Given the description of an element on the screen output the (x, y) to click on. 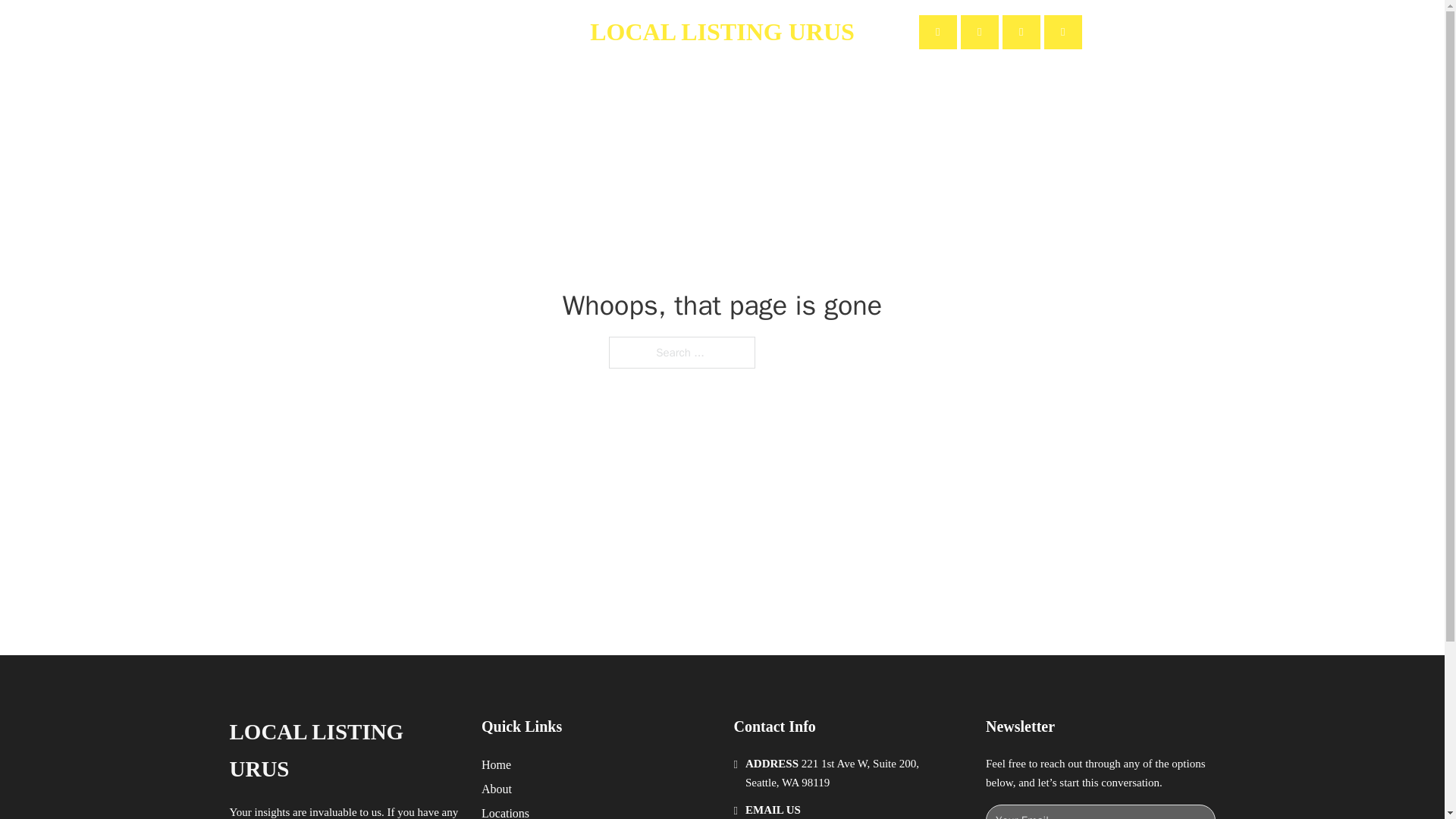
Home (496, 764)
LOCAL LISTING URUS (721, 31)
About (438, 32)
LOCAL LISTING URUS (343, 750)
About (496, 788)
Home (381, 32)
Contact (501, 32)
Locations (505, 811)
